Given the description of an element on the screen output the (x, y) to click on. 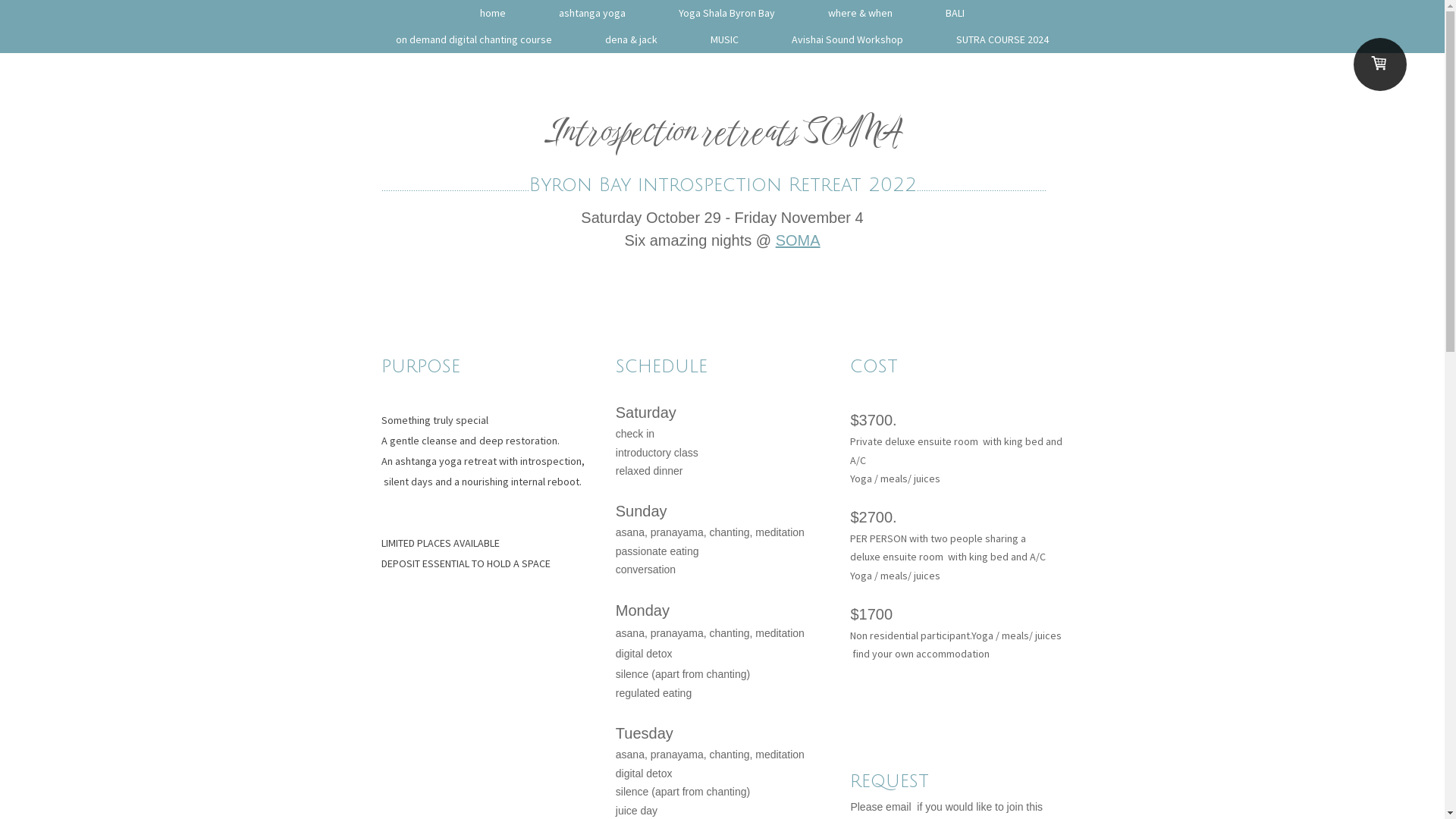
home Element type: text (492, 13)
BALI Element type: text (955, 13)
where & when Element type: text (860, 13)
SOMA Element type: text (797, 240)
Avishai Sound Workshop Element type: text (847, 39)
on demand digital chanting course Element type: text (473, 39)
SUTRA COURSE 2024 Element type: text (1002, 39)
ashtanga yoga Element type: text (592, 13)
dena & jack Element type: text (631, 39)
MUSIC Element type: text (724, 39)
Yoga Shala Byron Bay Element type: text (726, 13)
